Given the description of an element on the screen output the (x, y) to click on. 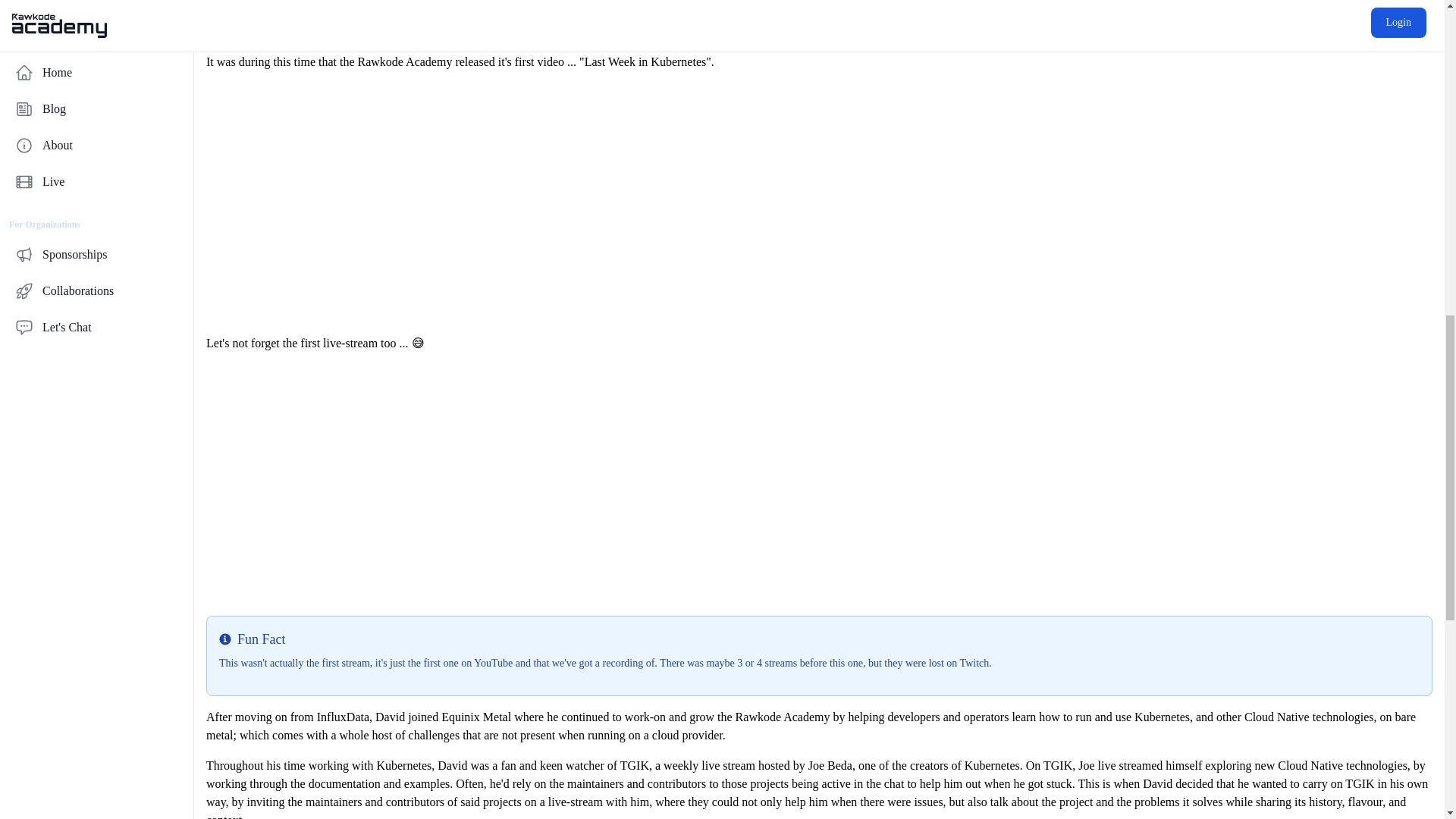
YouTube video player (818, 202)
YouTube video player (818, 483)
